Given the description of an element on the screen output the (x, y) to click on. 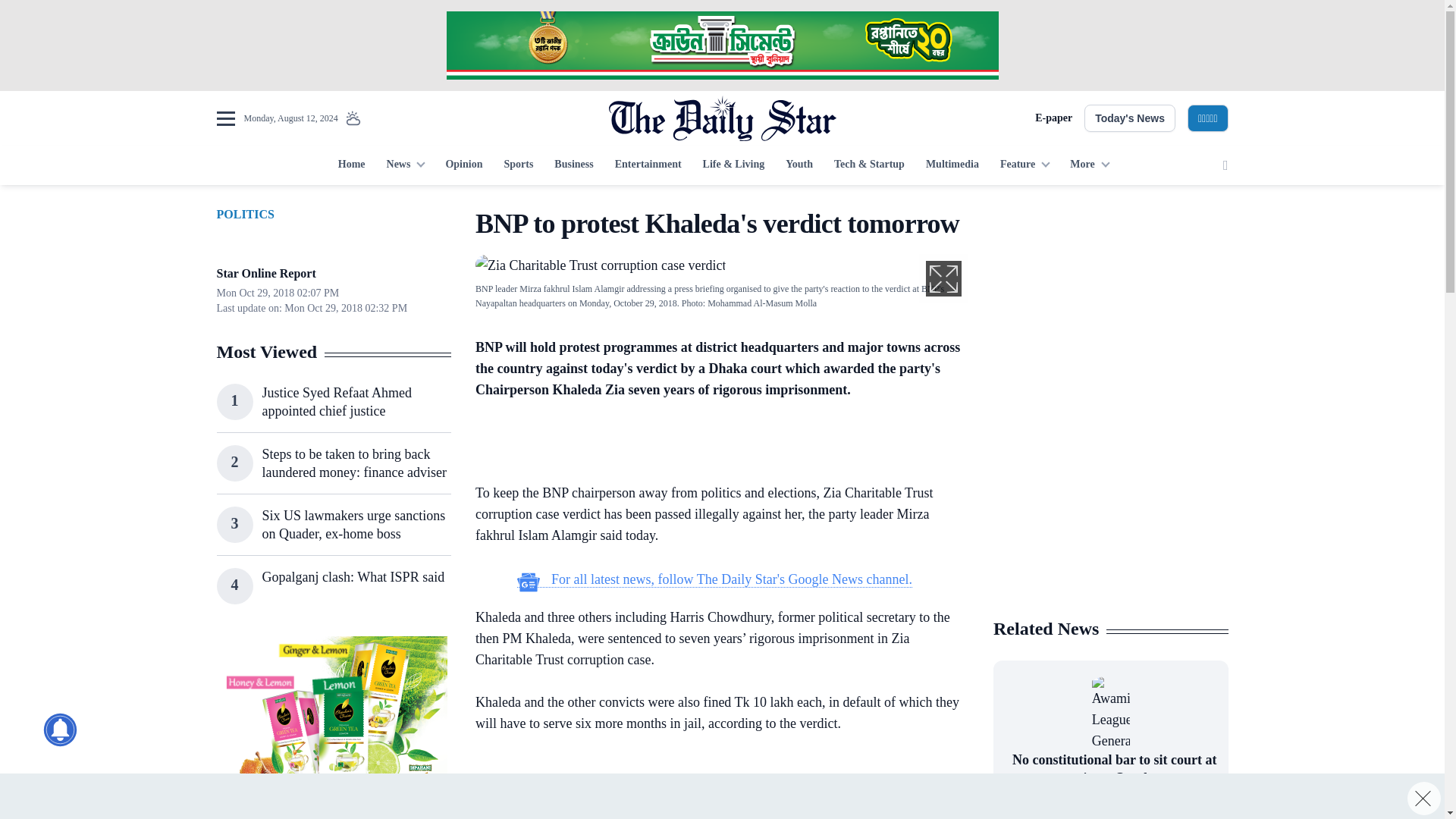
Zia Charitable Trust corruption case verdict (600, 265)
Today's News (1129, 117)
Feature (1024, 165)
News (405, 165)
Home (351, 165)
Youth (799, 165)
3rd party ad content (1110, 506)
Sports (518, 165)
E-paper (1053, 117)
